Given the description of an element on the screen output the (x, y) to click on. 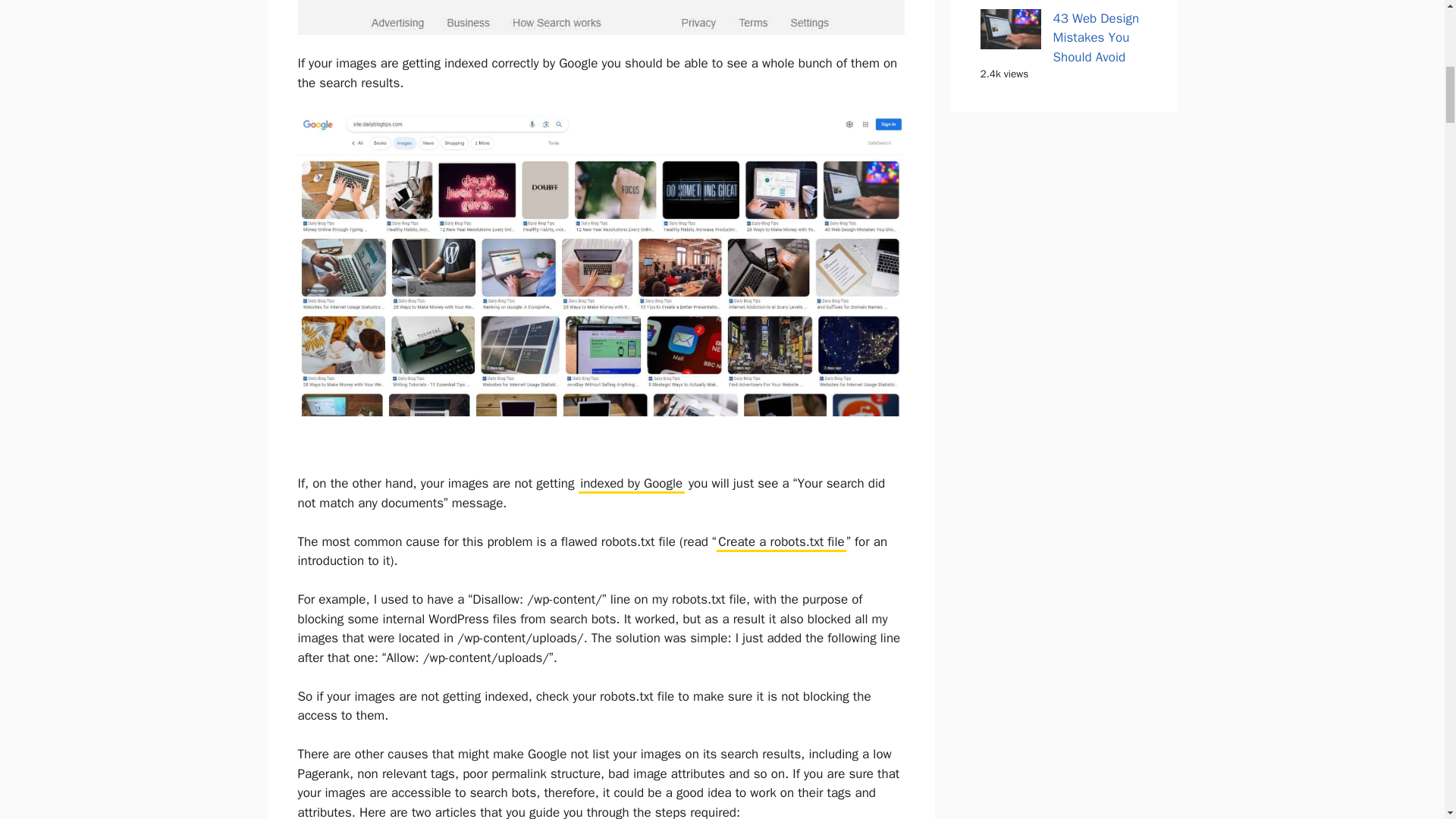
Check If Your Images Appear On Google Image Search Photo - 3 (600, 17)
Create a robots.txt file (780, 542)
indexed by Google (631, 484)
